Given the description of an element on the screen output the (x, y) to click on. 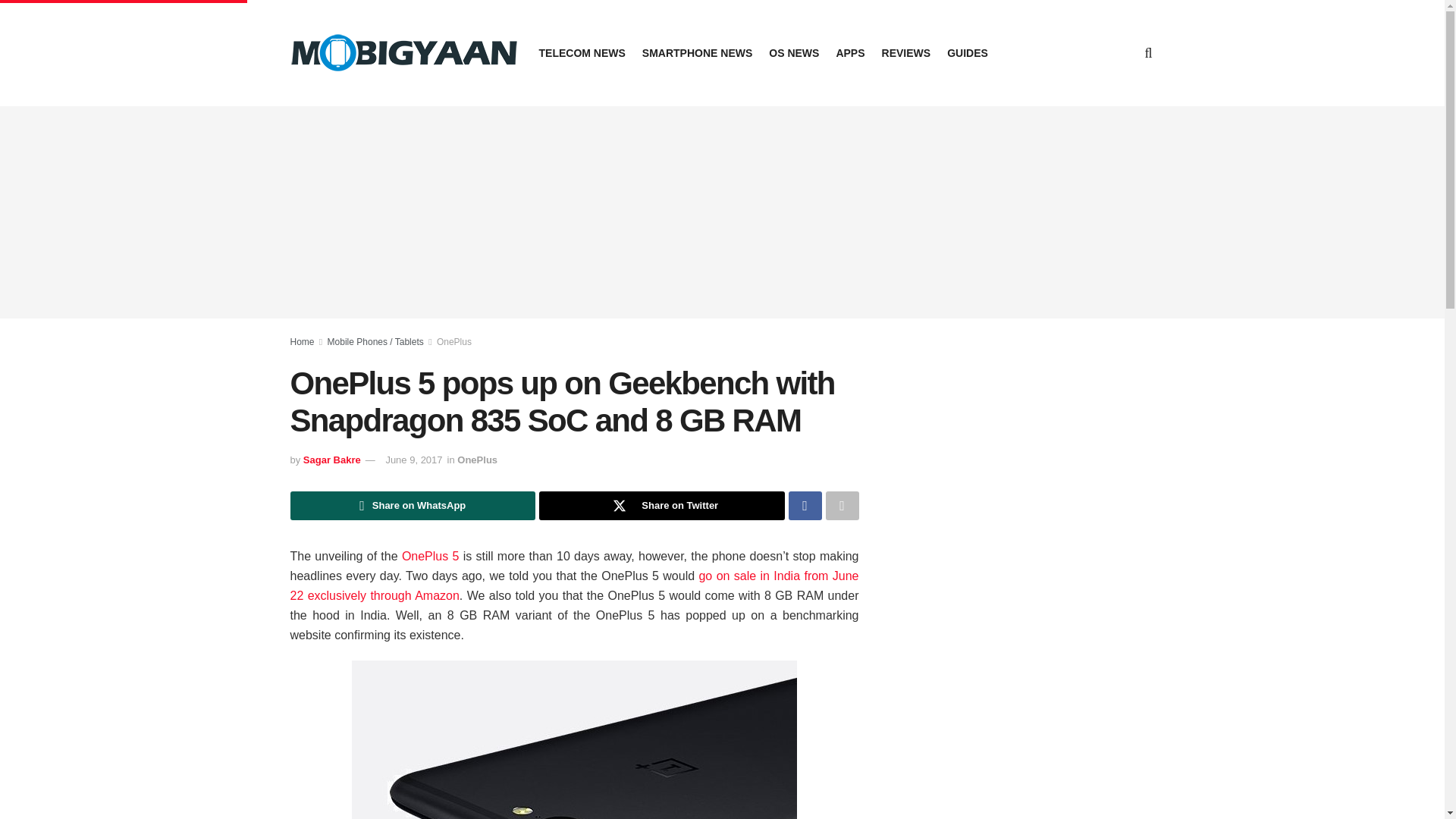
GUIDES (967, 52)
Sagar Bakre (331, 460)
APPS (849, 52)
Share on WhatsApp (412, 505)
OnePlus (453, 341)
SMARTPHONE NEWS (697, 52)
TELECOM NEWS (581, 52)
OnePlus (477, 460)
OnePlus 5 (430, 555)
OS NEWS (793, 52)
Home (301, 341)
go on sale in India from June 22 exclusively through Amazon (574, 585)
June 9, 2017 (413, 460)
